Given the description of an element on the screen output the (x, y) to click on. 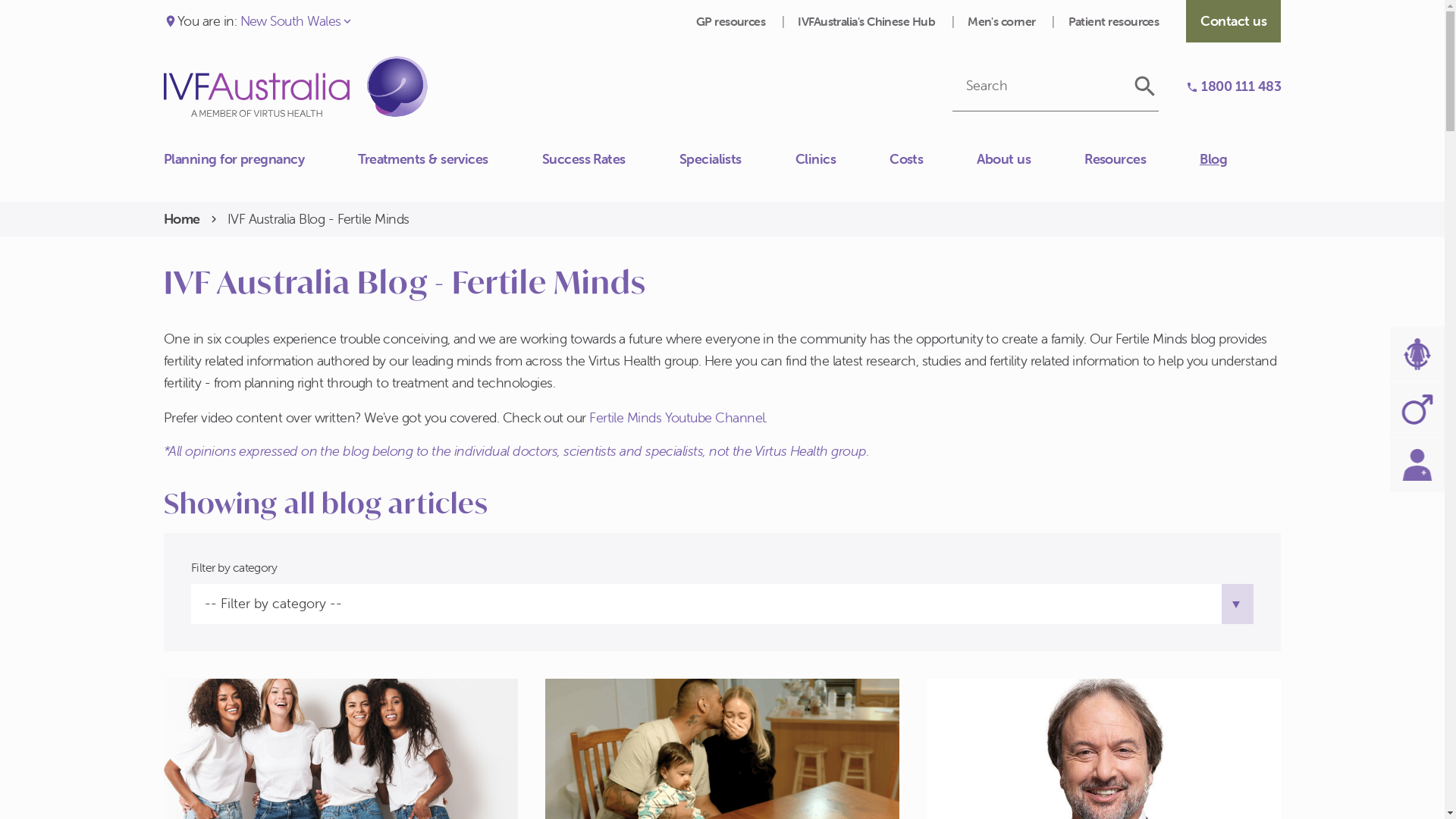
GP resources Element type: text (732, 20)
Contact us Element type: text (1233, 21)
Treatments & services Element type: text (449, 159)
Resources Element type: text (1141, 159)
Fertile Minds Youtube Channel Element type: text (676, 417)
Skip to main content Element type: text (0, 0)
Specialists Element type: text (737, 159)
1800 111 483 Element type: text (1233, 85)
Close Element type: text (163, 150)
Men's corner Element type: text (1002, 20)
IVFAustralia's Chinese Hub Element type: text (867, 20)
Success Rates Element type: text (610, 159)
Blog Element type: text (1239, 159)
Costs Element type: text (932, 159)
Patient resources Element type: text (1113, 20)
Contact us Element type: text (163, 166)
Home Element type: text (181, 219)
Planning for pregnancy Element type: text (260, 159)
About us Element type: text (1030, 159)
Clinics Element type: text (842, 159)
